Given the description of an element on the screen output the (x, y) to click on. 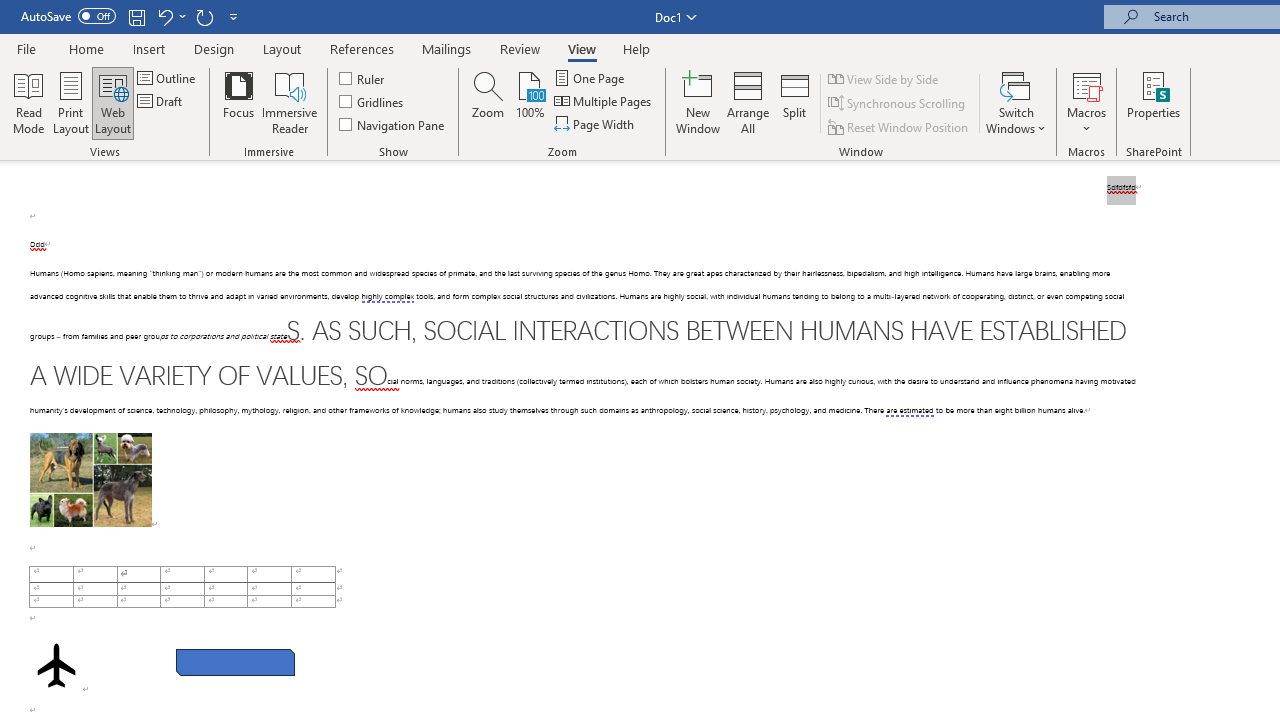
Switch Windows (1016, 102)
View Side by Side (884, 78)
Draft (161, 101)
Arrange All (747, 102)
Macros (1086, 102)
Navigation Pane (392, 124)
Properties (1153, 102)
